Given the description of an element on the screen output the (x, y) to click on. 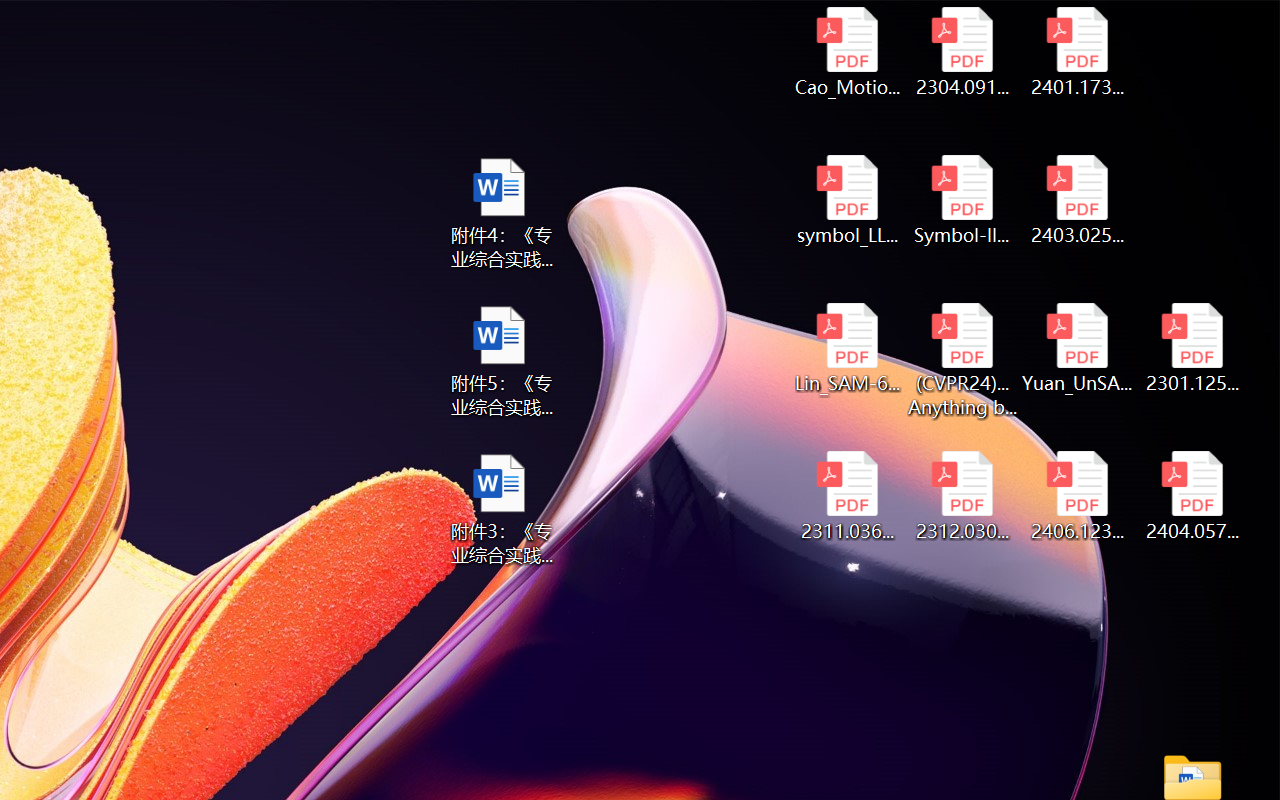
2301.12597v3.pdf (1192, 348)
